Given the description of an element on the screen output the (x, y) to click on. 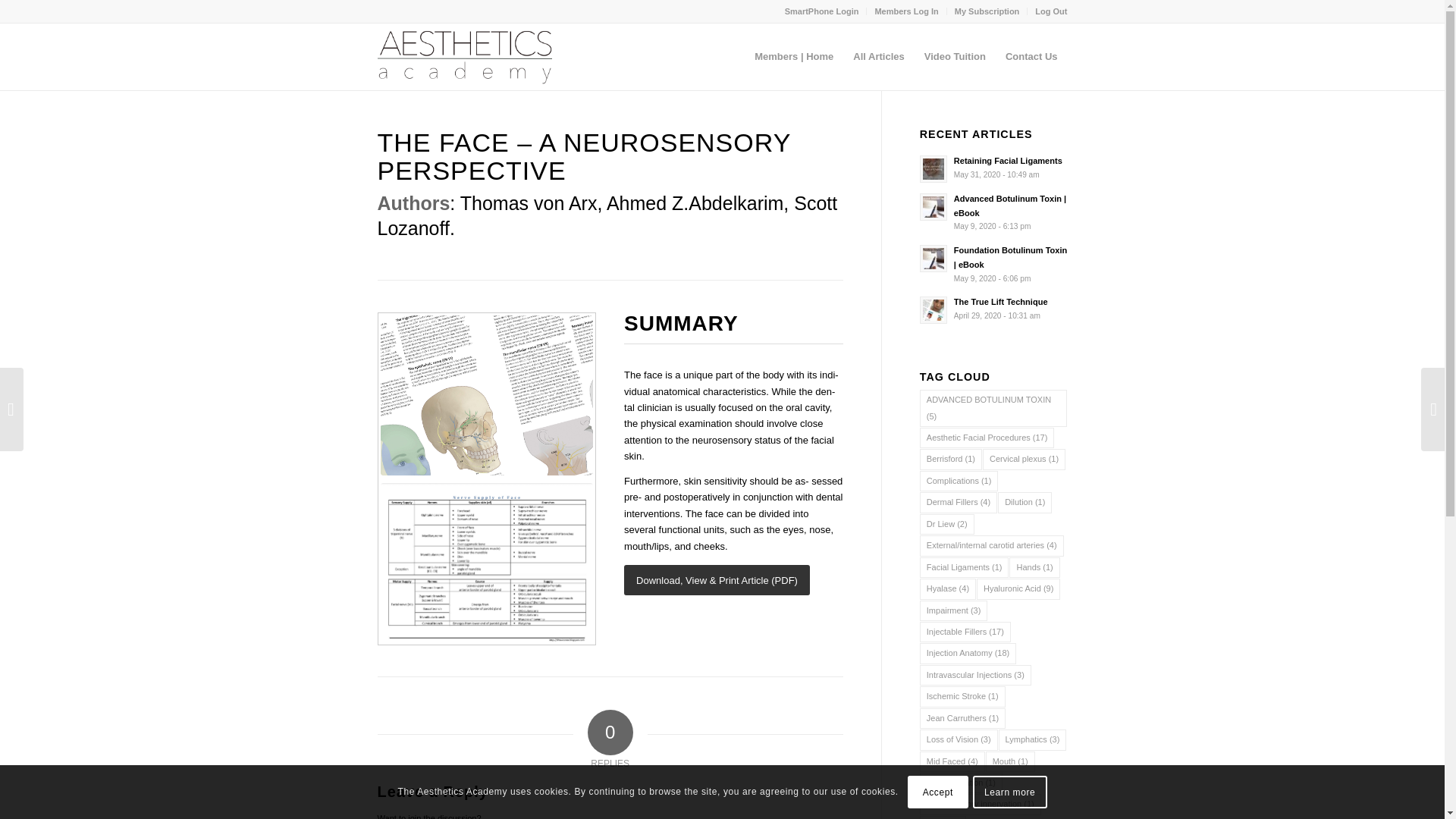
Video Tuition (954, 56)
Contact Us (1031, 56)
Members Log In (906, 11)
My Subscription (987, 11)
Read: Retaining Facial Ligaments (1007, 160)
Retaining Facial Ligaments (1007, 160)
All Articles (878, 56)
The True Lift Technique (1000, 301)
Read: Retaining Facial Ligaments (933, 168)
Read: The True Lift Technique (933, 309)
